Given the description of an element on the screen output the (x, y) to click on. 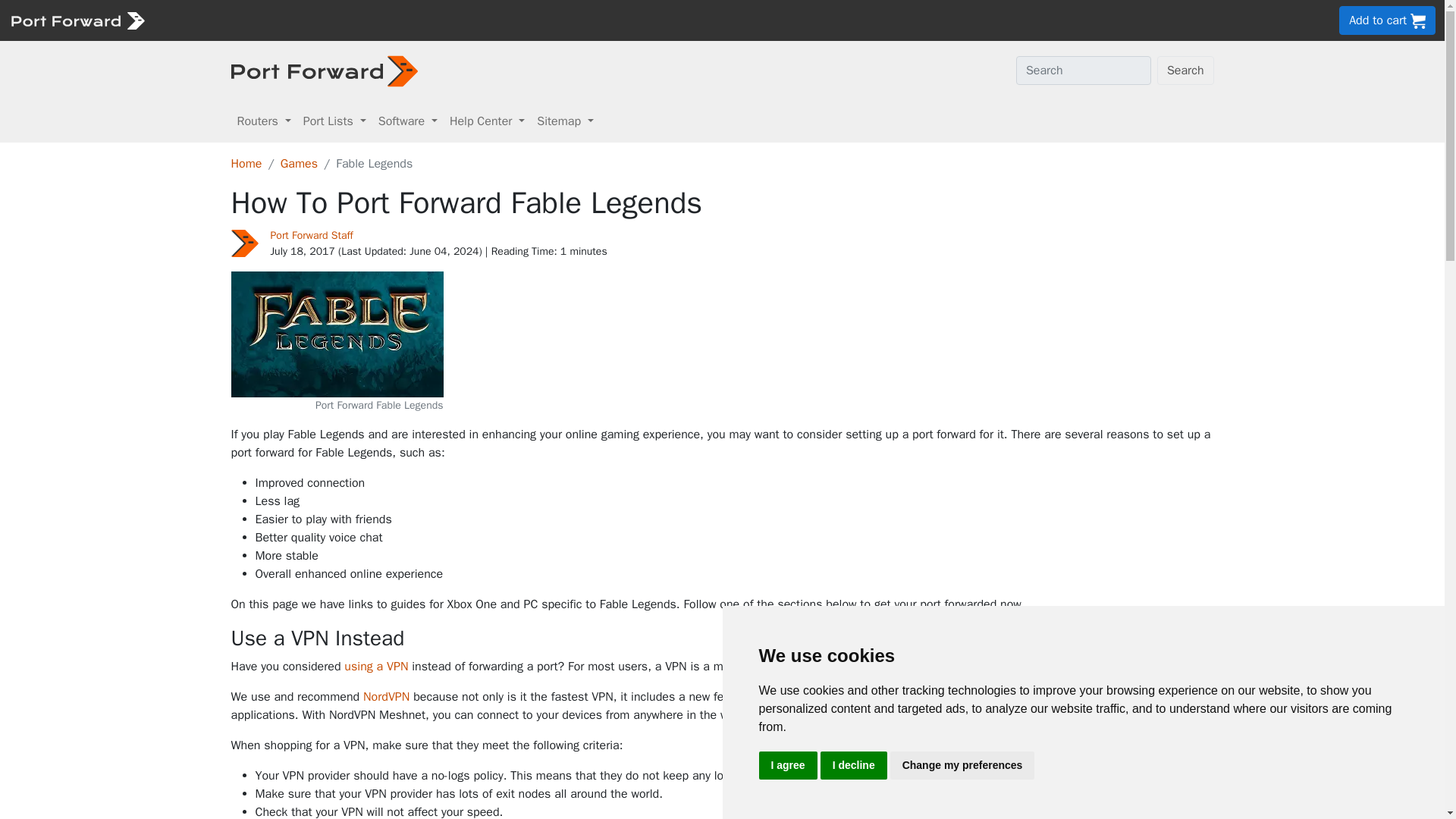
I agree (787, 765)
Search (1185, 70)
Change my preferences (962, 765)
I decline (853, 765)
Port Lists (334, 121)
Routers (263, 121)
Add to cart (1387, 20)
